Given the description of an element on the screen output the (x, y) to click on. 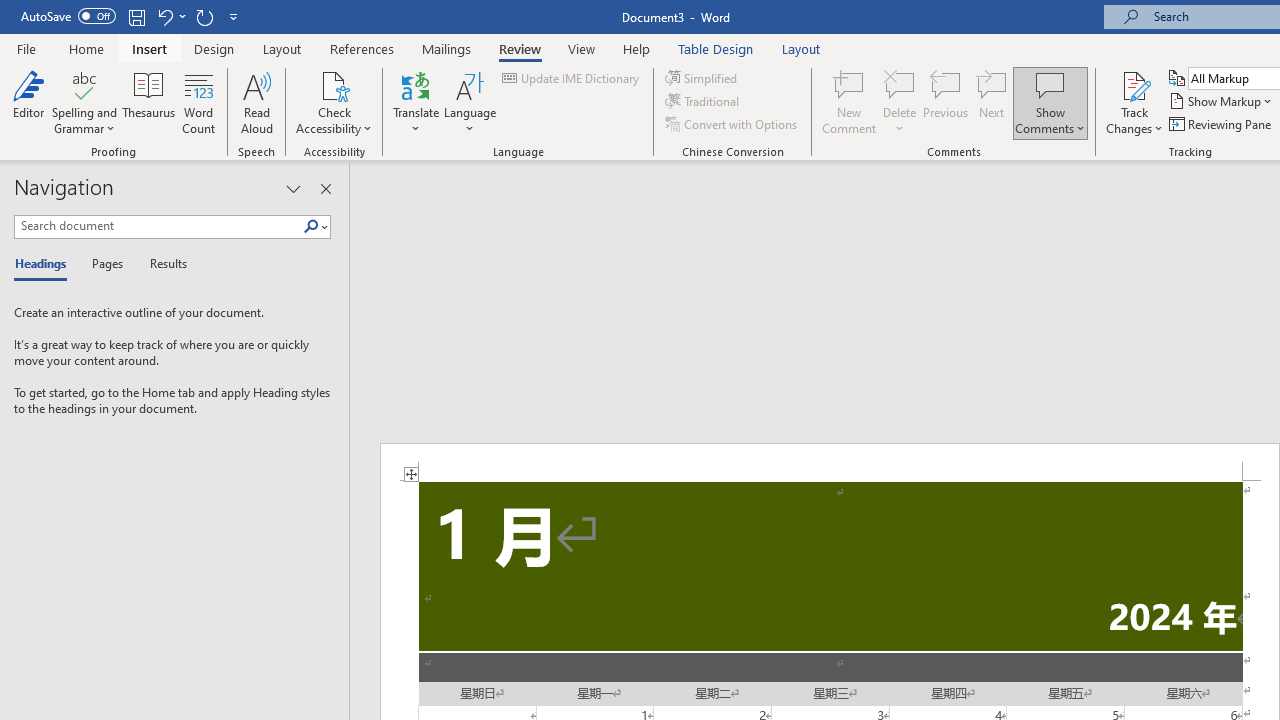
Read Aloud (256, 102)
Traditional (703, 101)
Spelling and Grammar (84, 102)
Track Changes (1134, 84)
Show Comments (1050, 84)
Translate (415, 102)
Show Markup (1222, 101)
Spelling and Grammar (84, 84)
